Given the description of an element on the screen output the (x, y) to click on. 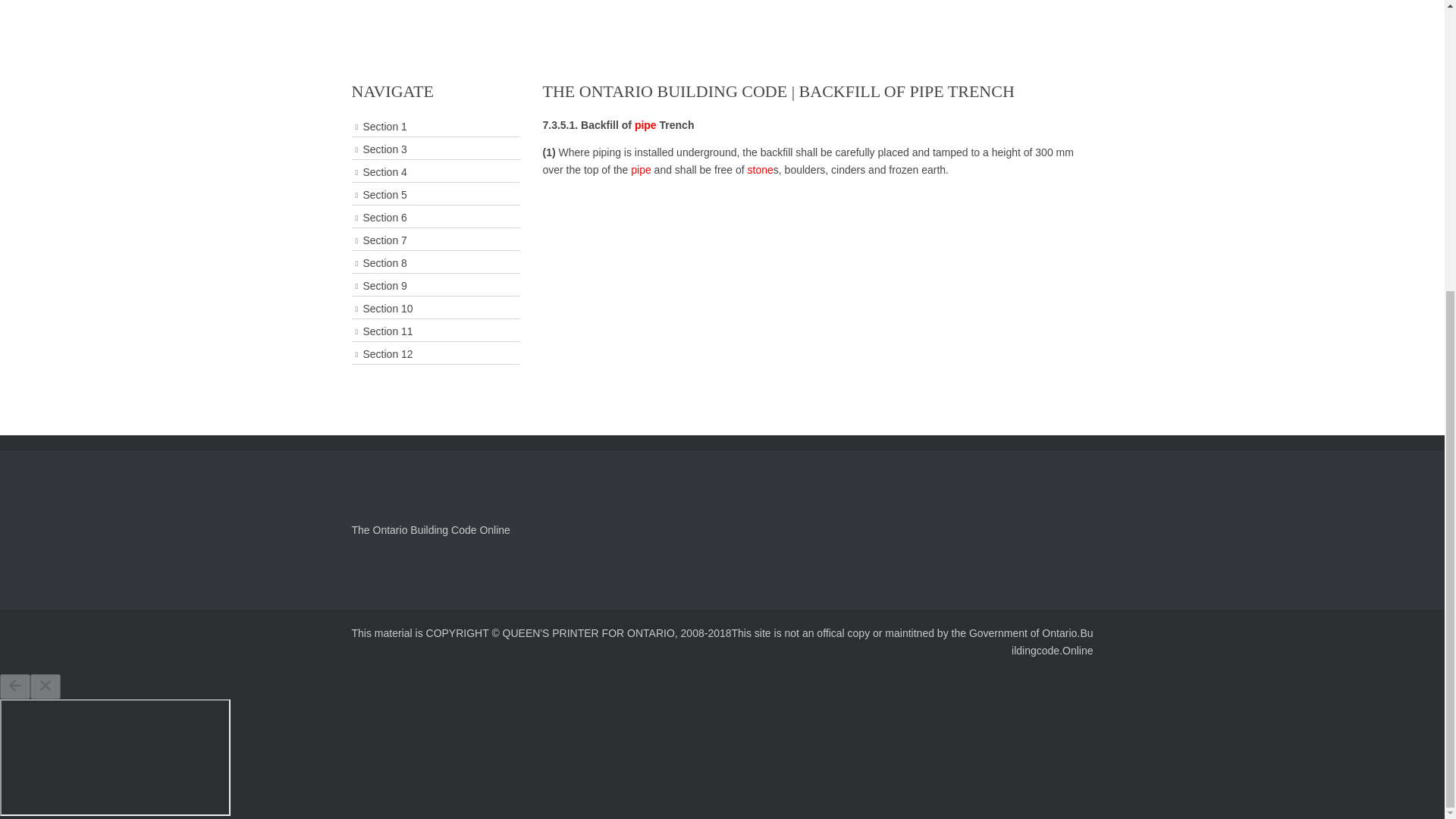
Section 7 (435, 240)
Section 3 (435, 149)
Section 5 (435, 195)
Section 6 (435, 218)
Section 8 (435, 263)
Section 12 (435, 353)
Section 11 (435, 331)
stone (760, 169)
Plubing leak repair in Toronto (645, 124)
Section 9 (435, 286)
Advertisement (721, 6)
pipe (640, 169)
pipe (645, 124)
Plubing leak repair in Toronto (640, 169)
Section 1 (435, 127)
